Given the description of an element on the screen output the (x, y) to click on. 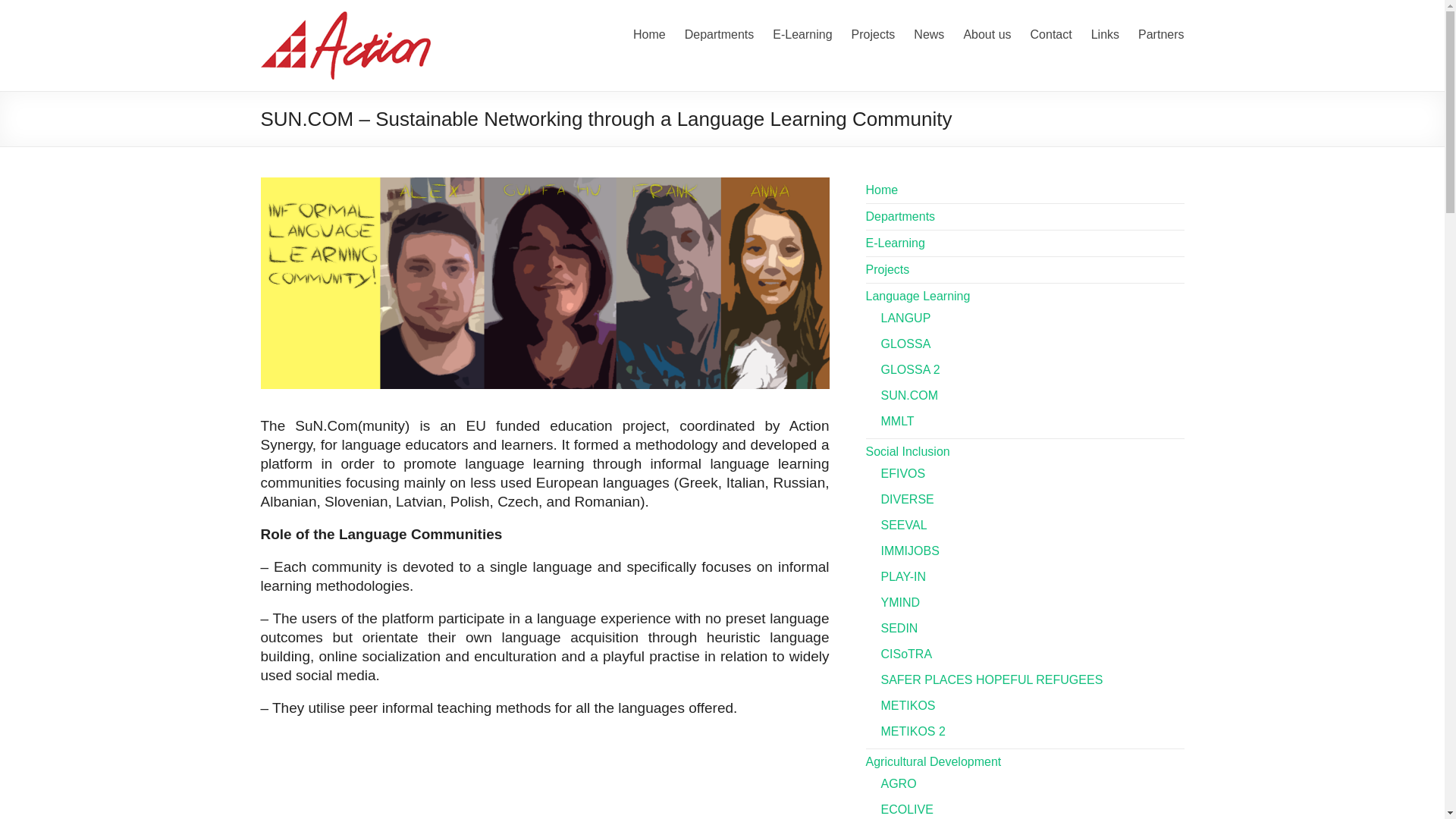
SEEVAL (903, 524)
Home (649, 32)
Home (882, 189)
Action Synergy (345, 18)
DIVERSE (907, 499)
METIKOS (908, 705)
EFIVOS (903, 472)
AGRO (898, 783)
YMIND (900, 602)
SUN.COM (909, 395)
GLOSSA (905, 343)
Social Inclusion (908, 451)
Projects (873, 32)
Partners (1160, 32)
PLAY-IN (903, 576)
